Given the description of an element on the screen output the (x, y) to click on. 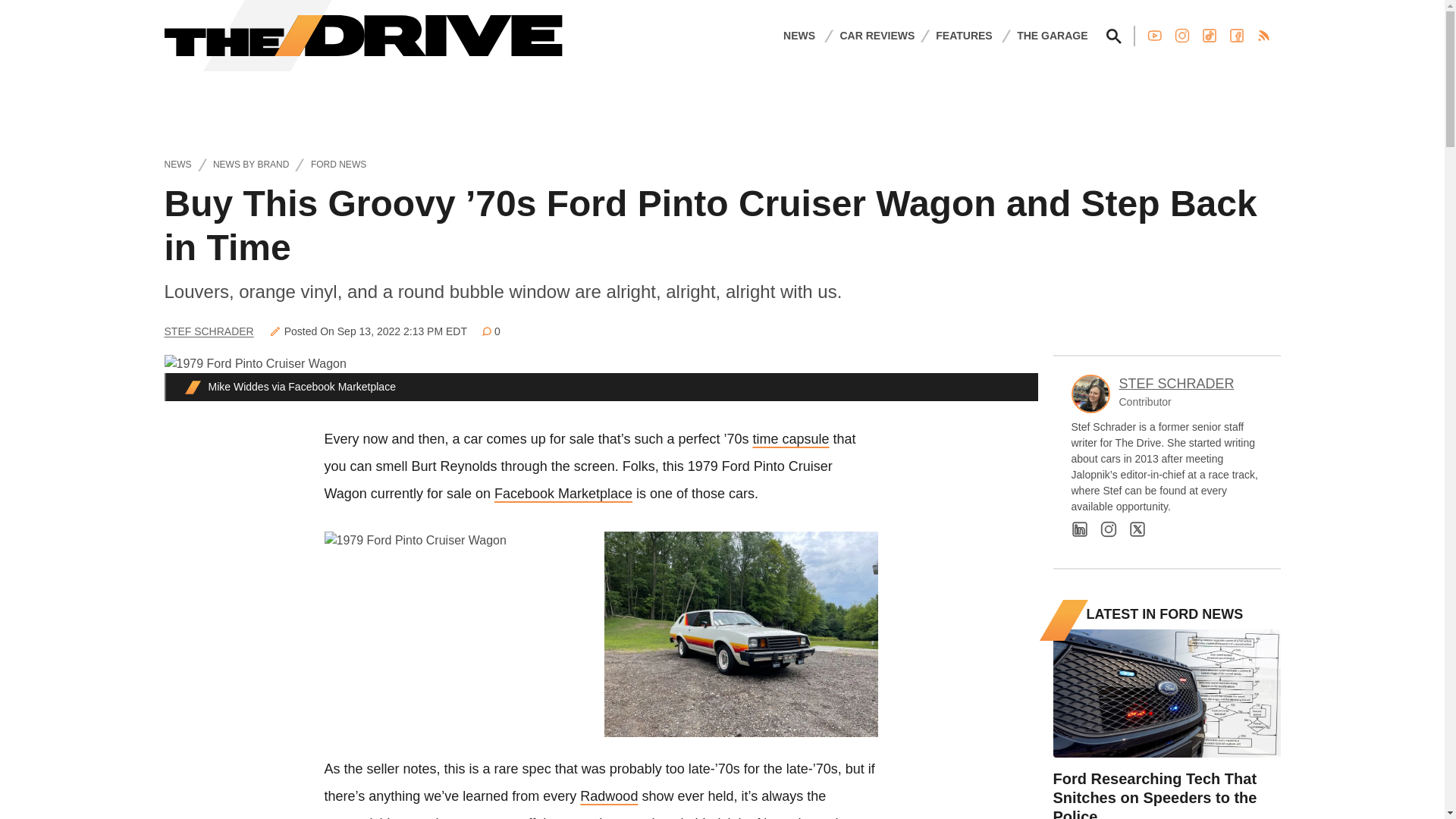
NEWS (799, 34)
